Given the description of an element on the screen output the (x, y) to click on. 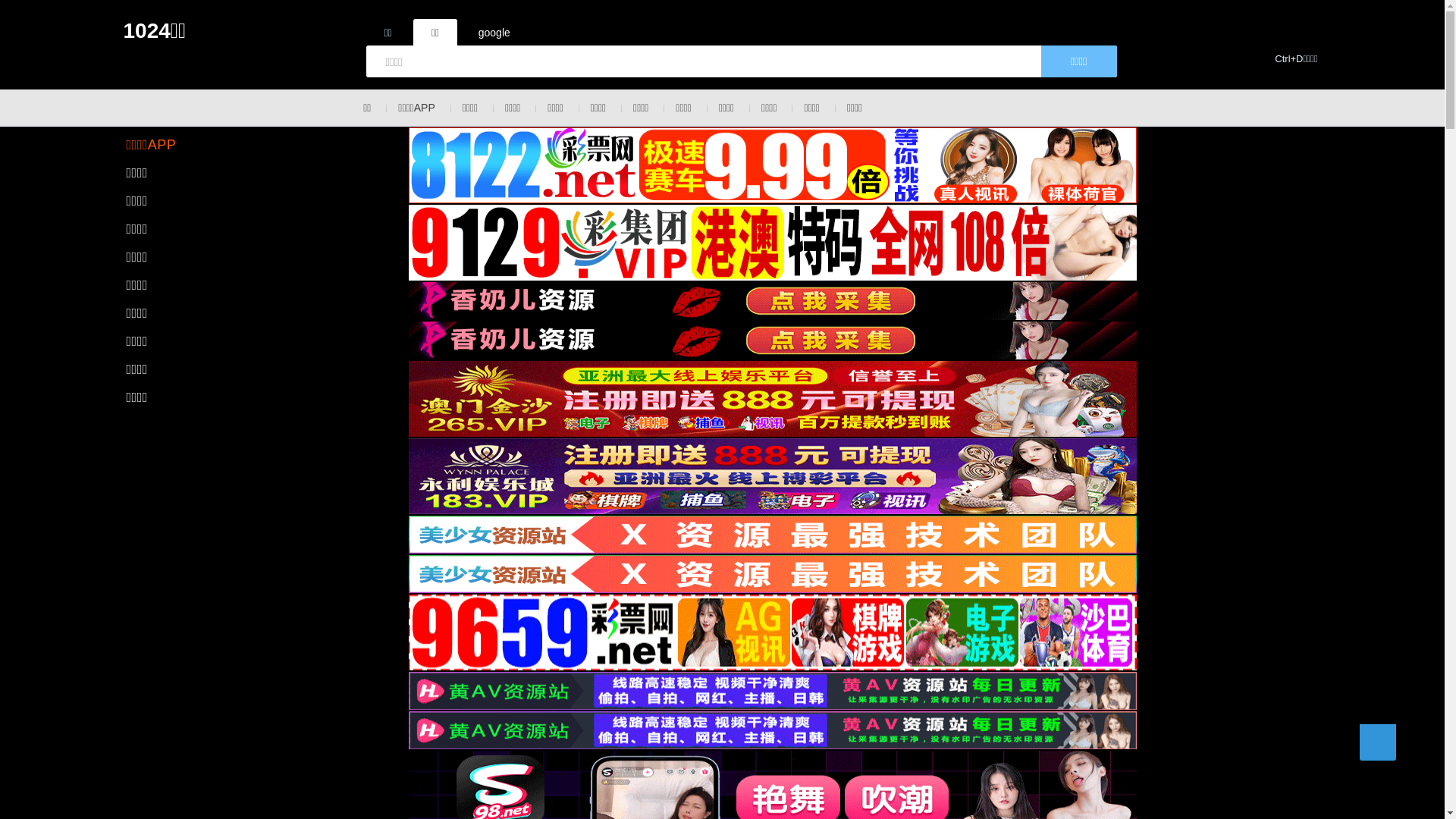
  Element type: text (1376, 742)
